Given the description of an element on the screen output the (x, y) to click on. 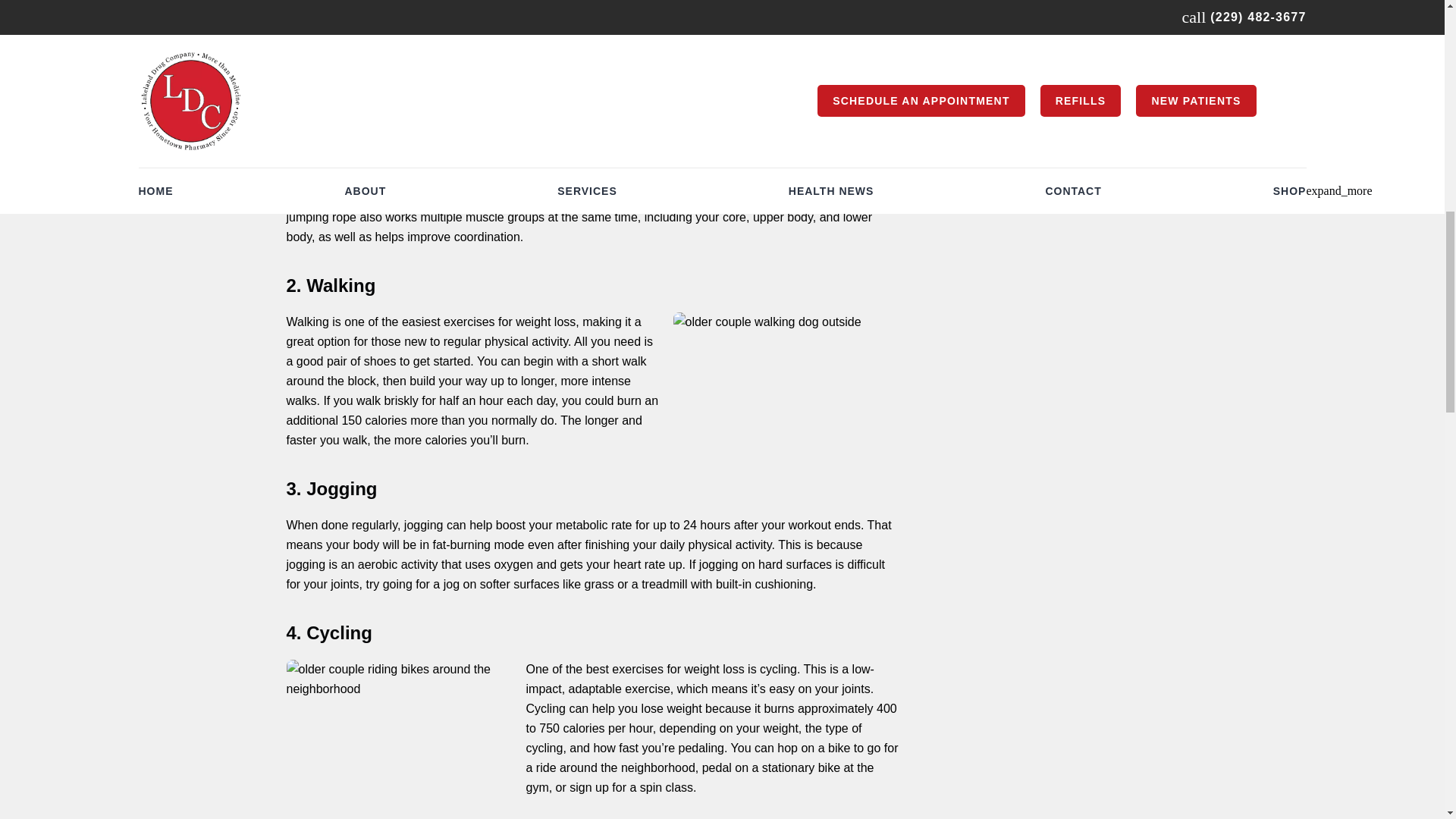
Bug Bites: 10 Ways to Stop the Itch (1082, 4)
